Given the description of an element on the screen output the (x, y) to click on. 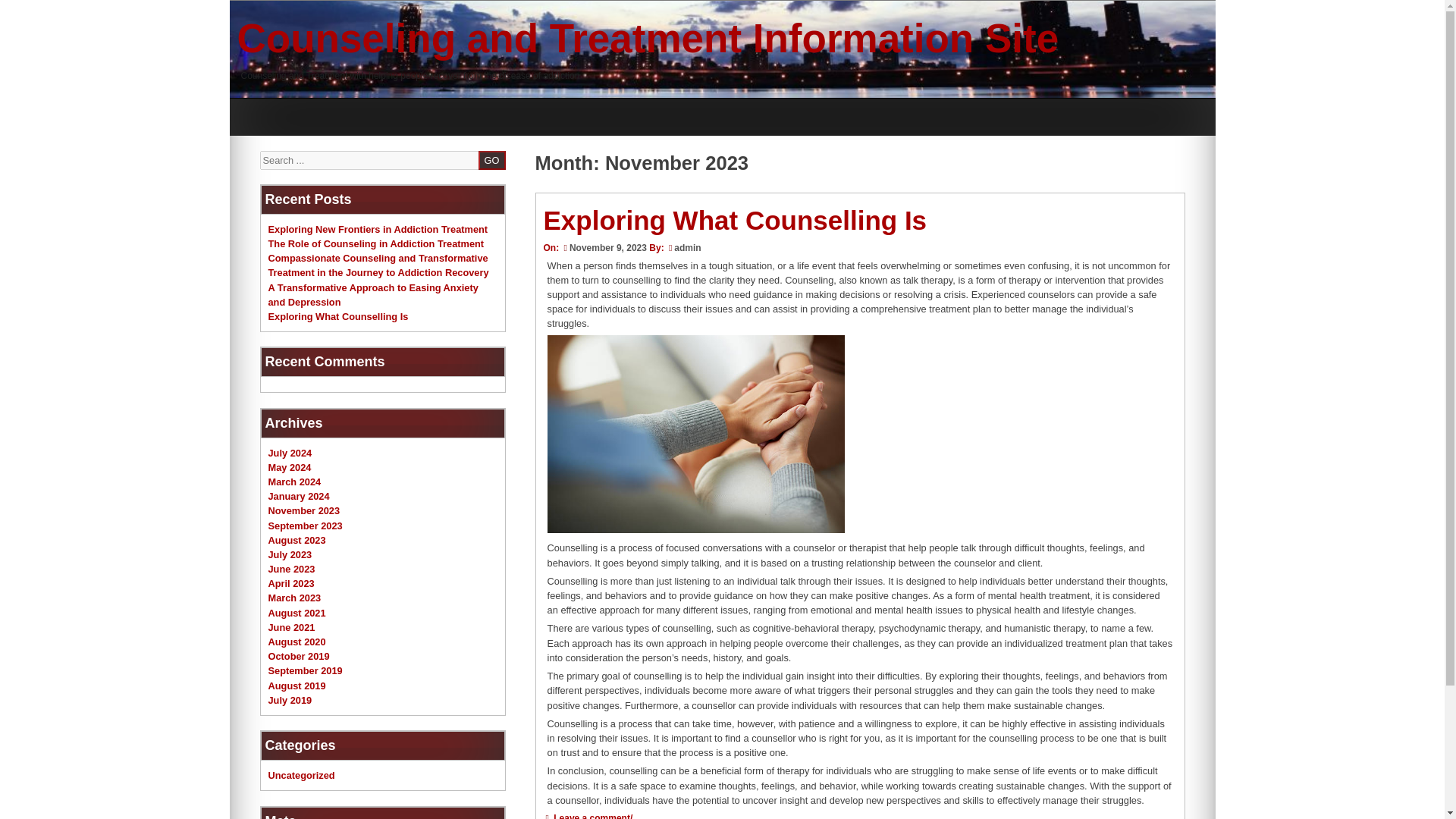
July 2019 (290, 699)
Exploring What Counselling Is (734, 220)
August 2020 (296, 641)
September 2019 (304, 670)
GO (492, 158)
August 2021 (296, 613)
Exploring New Frontiers in Addiction Treatment (377, 229)
October 2019 (298, 655)
August 2019 (296, 685)
September 2023 (304, 525)
